Given the description of an element on the screen output the (x, y) to click on. 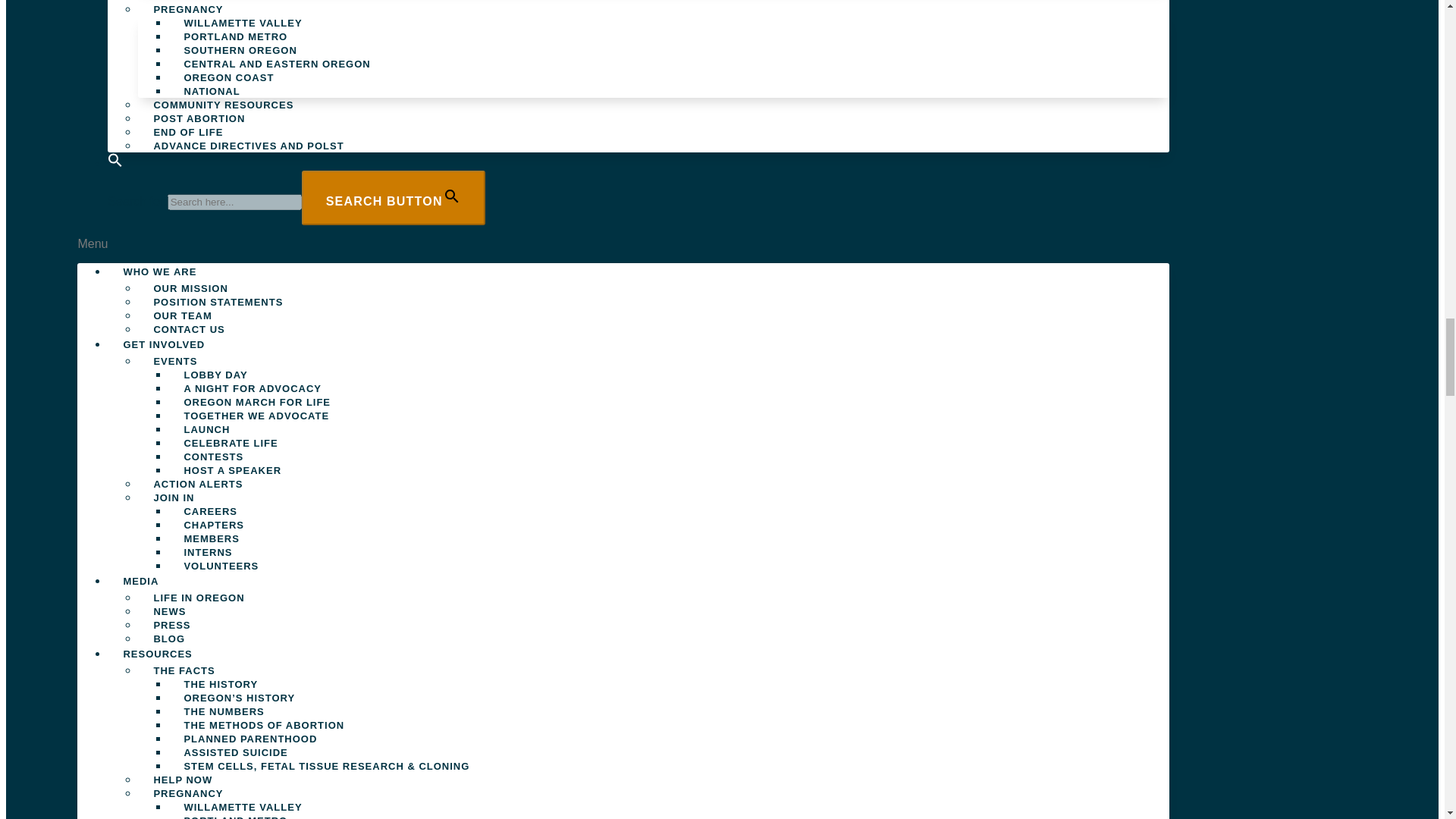
WILLAMETTE VALLEY (242, 22)
PREGNANCY (188, 13)
HELP NOW (182, 6)
